Given the description of an element on the screen output the (x, y) to click on. 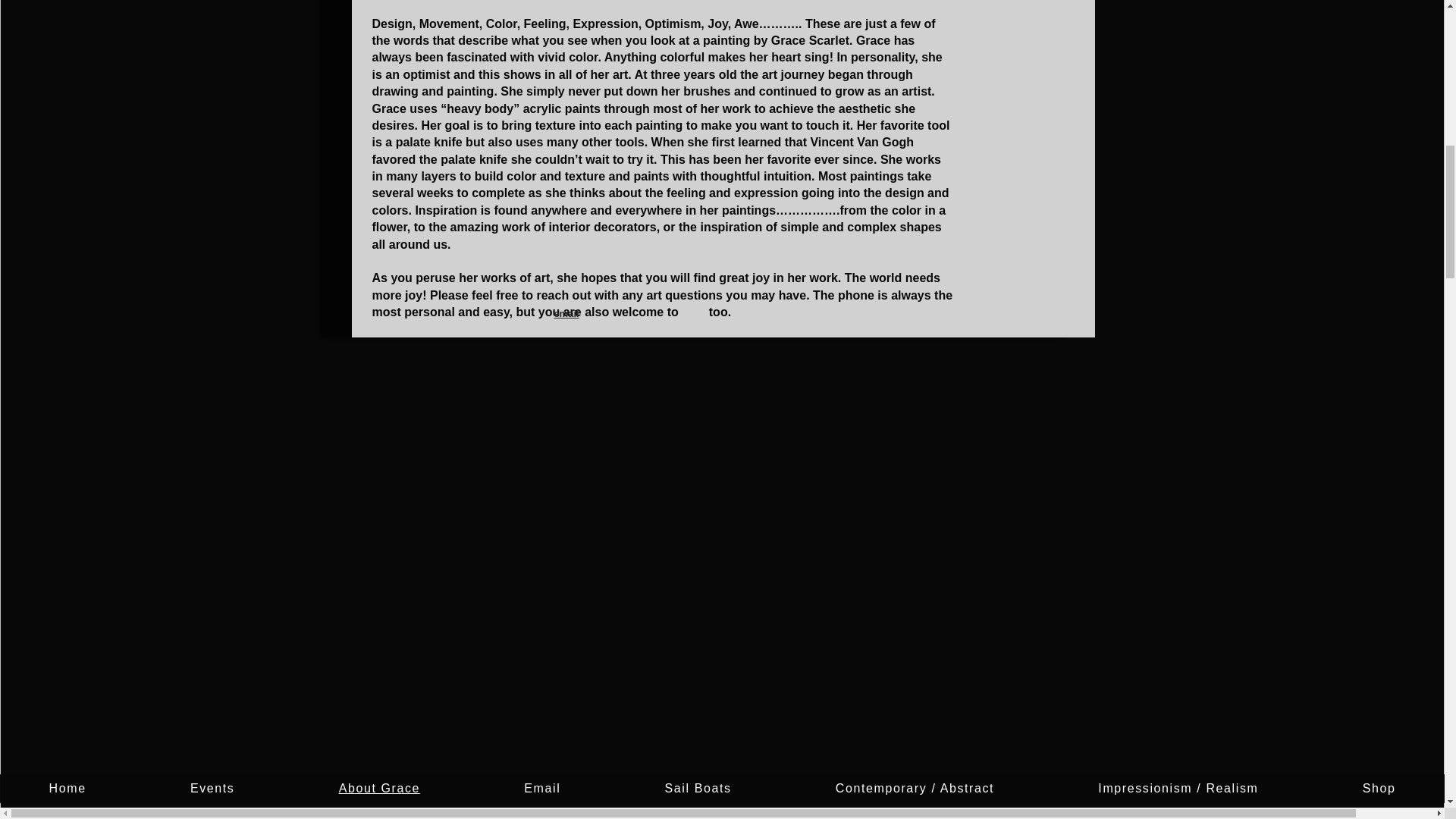
email (566, 313)
